Given the description of an element on the screen output the (x, y) to click on. 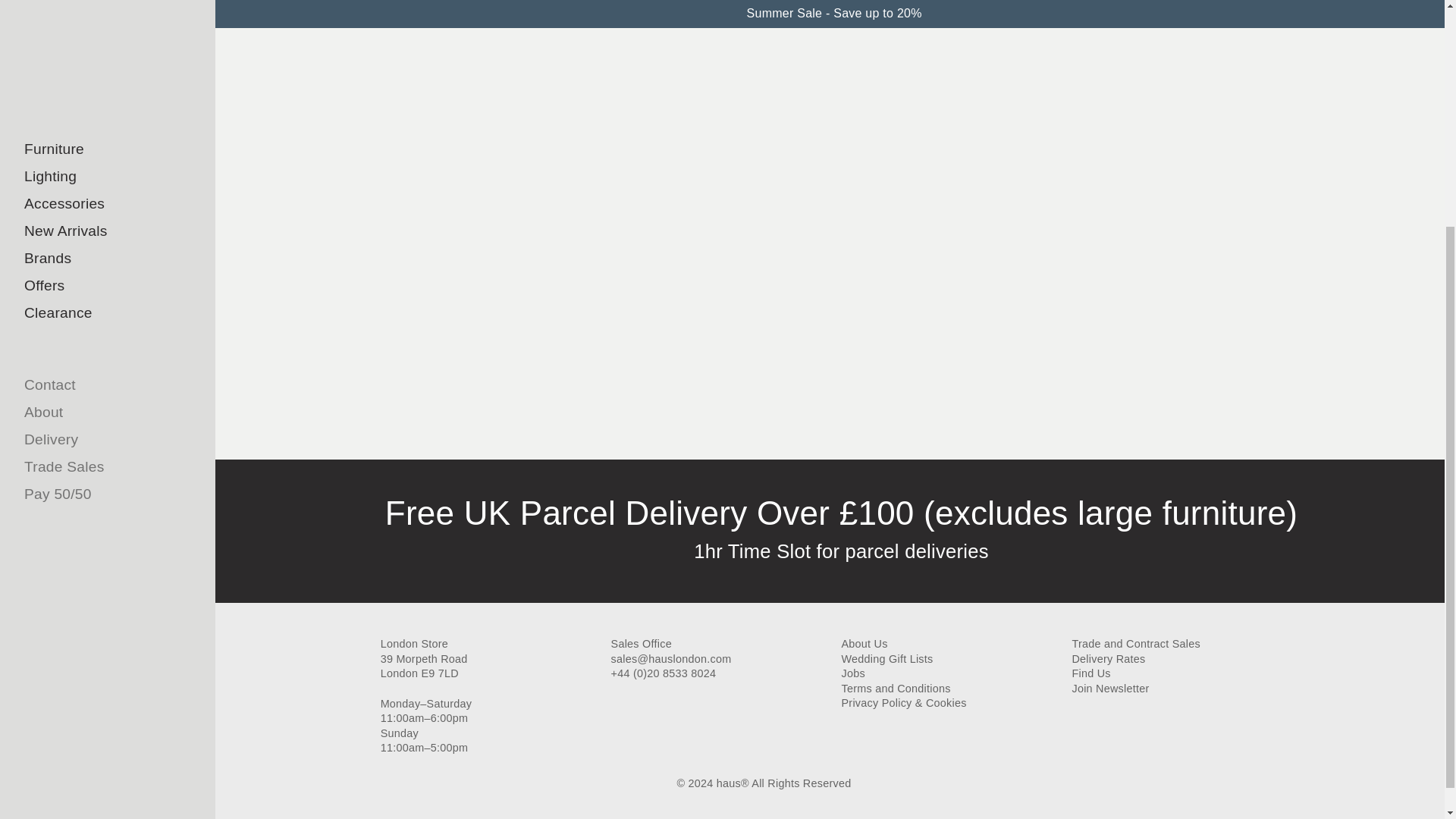
Dining Tables (75, 27)
Designed for Kids (75, 190)
Storage (75, 108)
Low and Side Tables (75, 7)
Desks (75, 54)
Outdoor (75, 163)
String System (75, 135)
Beds (75, 82)
